Given the description of an element on the screen output the (x, y) to click on. 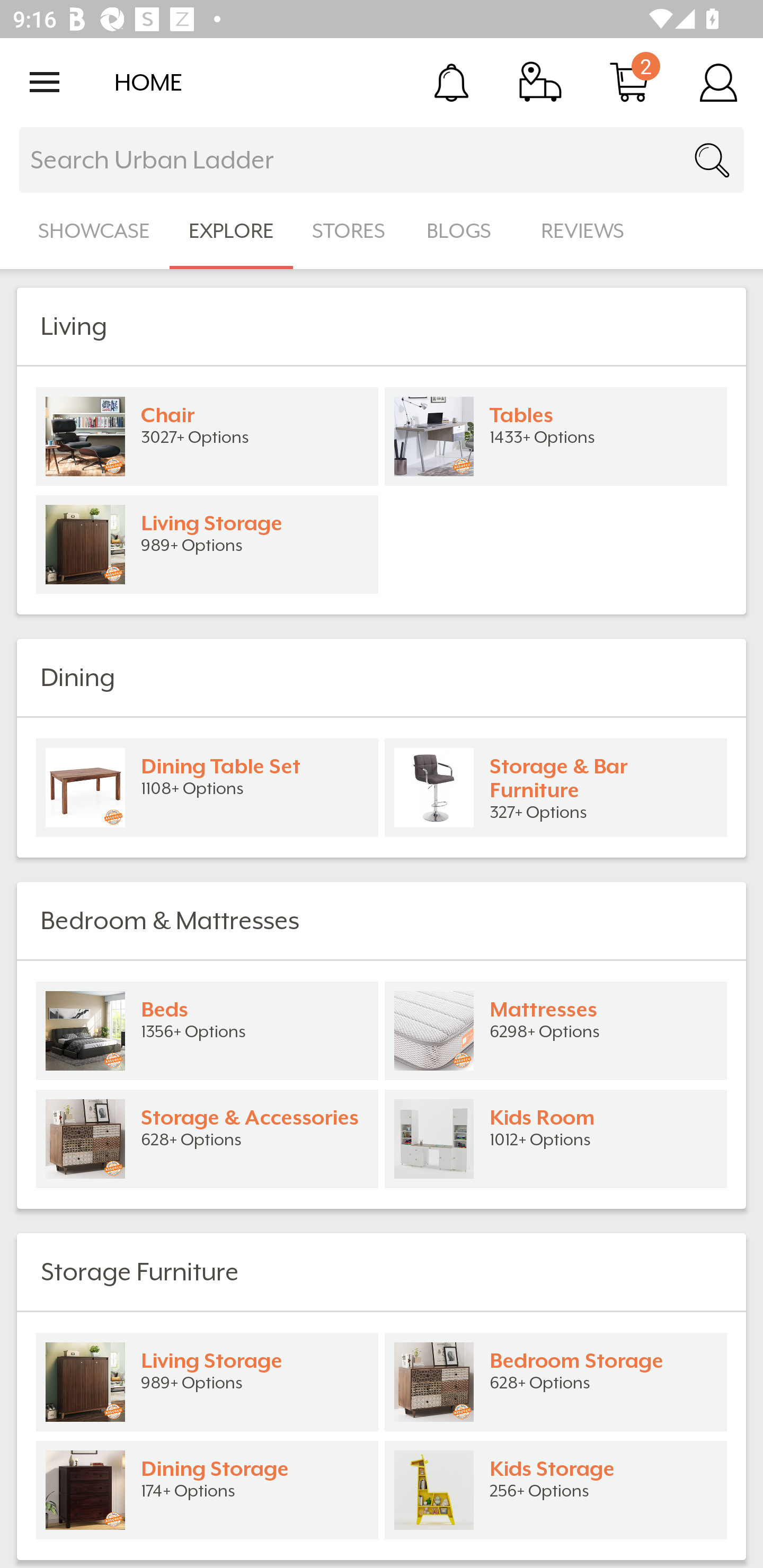
Open navigation drawer (44, 82)
Notification (450, 81)
Track Order (540, 81)
Cart (629, 81)
Account Details (718, 81)
Search Urban Ladder  (381, 159)
SHOWCASE (94, 230)
EXPLORE (230, 230)
STORES (349, 230)
BLOGS (464, 230)
REVIEWS (582, 230)
Chair 3027+ Options (206, 436)
Tables 1433+ Options (555, 436)
Living Storage 989+ Options (206, 544)
Dining Table Set 1108+ Options (206, 787)
Storage & Bar Furniture 327+ Options (555, 787)
Beds 1356+ Options (206, 1030)
Mattresses 6298+ Options (555, 1030)
Storage & Accessories 628+ Options (206, 1139)
Kids Room 1012+ Options (555, 1139)
Living Storage 989+ Options (206, 1382)
Bedroom Storage 628+ Options (555, 1382)
Dining Storage 174+ Options (206, 1490)
Kids Storage 256+ Options (555, 1490)
